Given the description of an element on the screen output the (x, y) to click on. 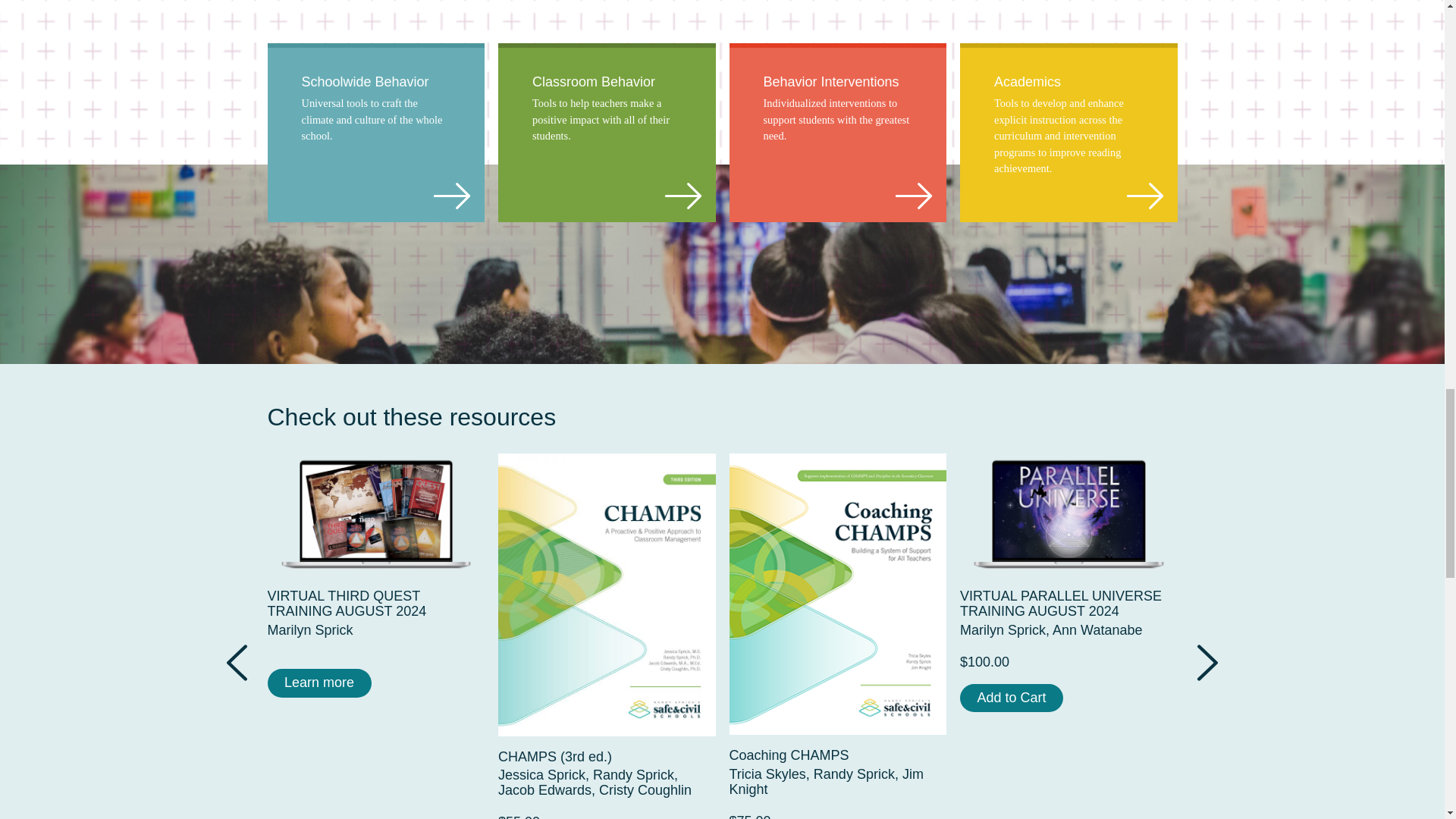
Learn more (375, 594)
